Given the description of an element on the screen output the (x, y) to click on. 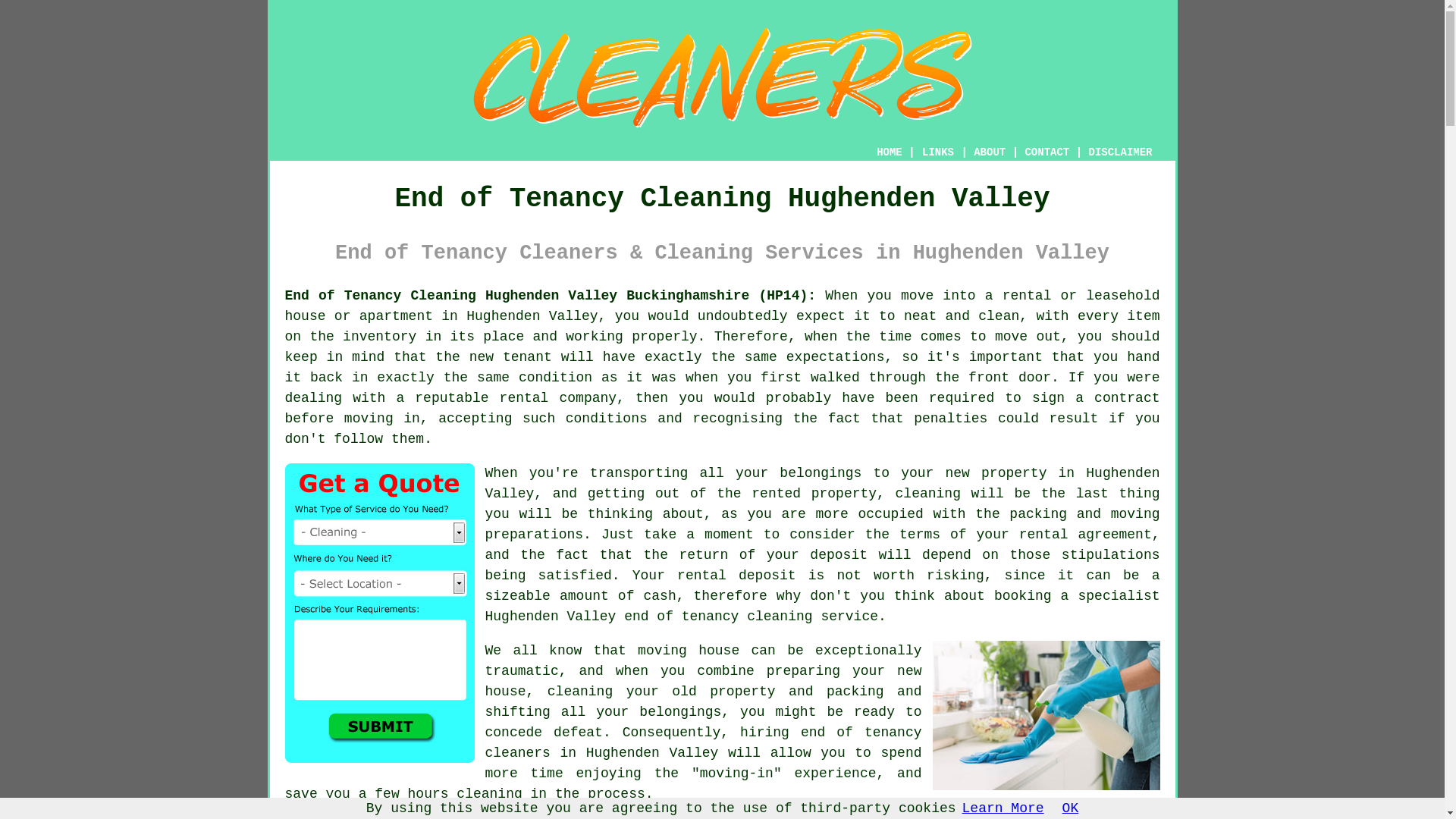
end of tenancy cleaning service (750, 616)
HOME (889, 152)
LINKS (938, 151)
End of Tenancy Cleaning Hughenden Valley (722, 77)
